Given the description of an element on the screen output the (x, y) to click on. 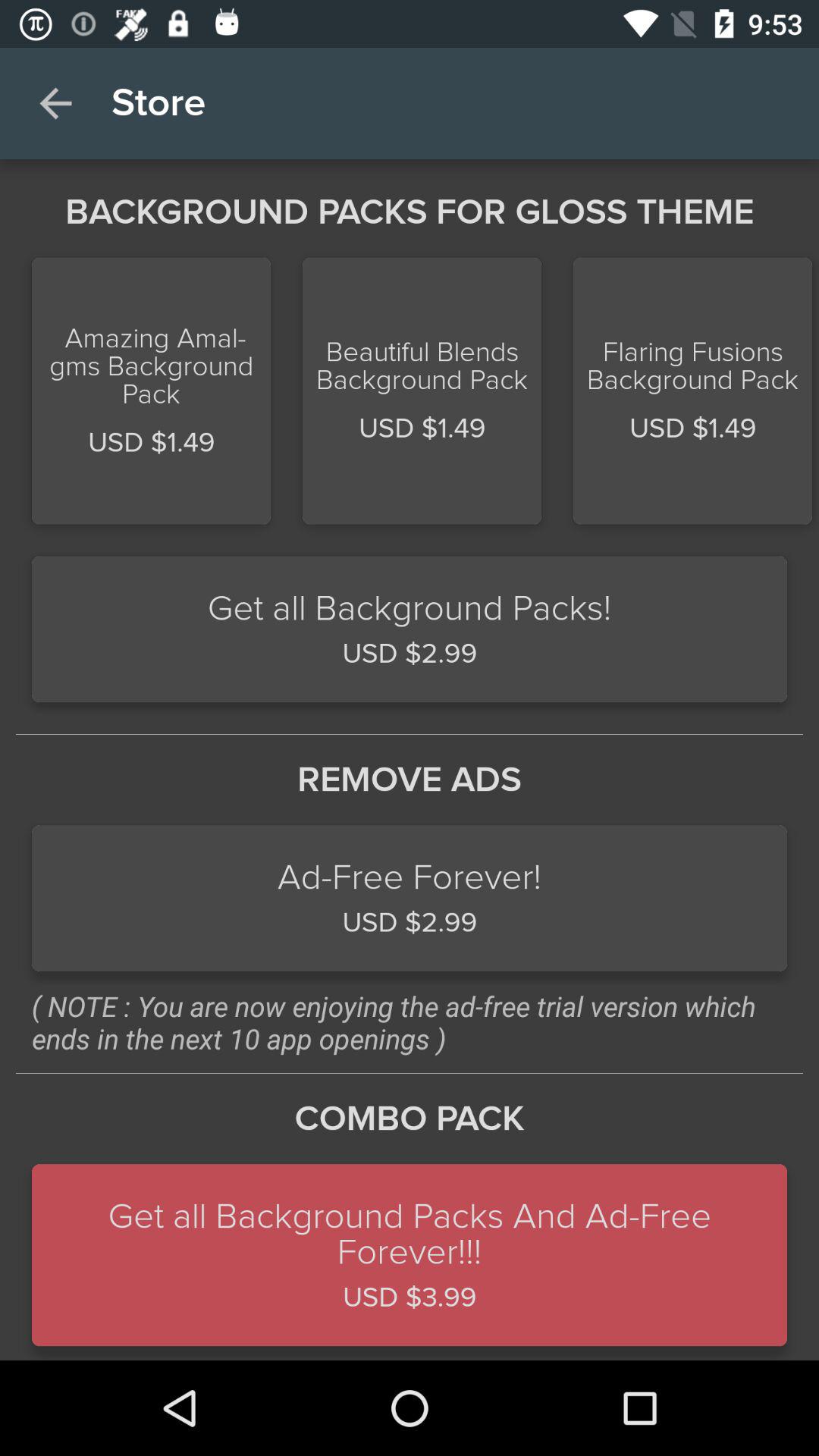
press the item next to store item (55, 103)
